Given the description of an element on the screen output the (x, y) to click on. 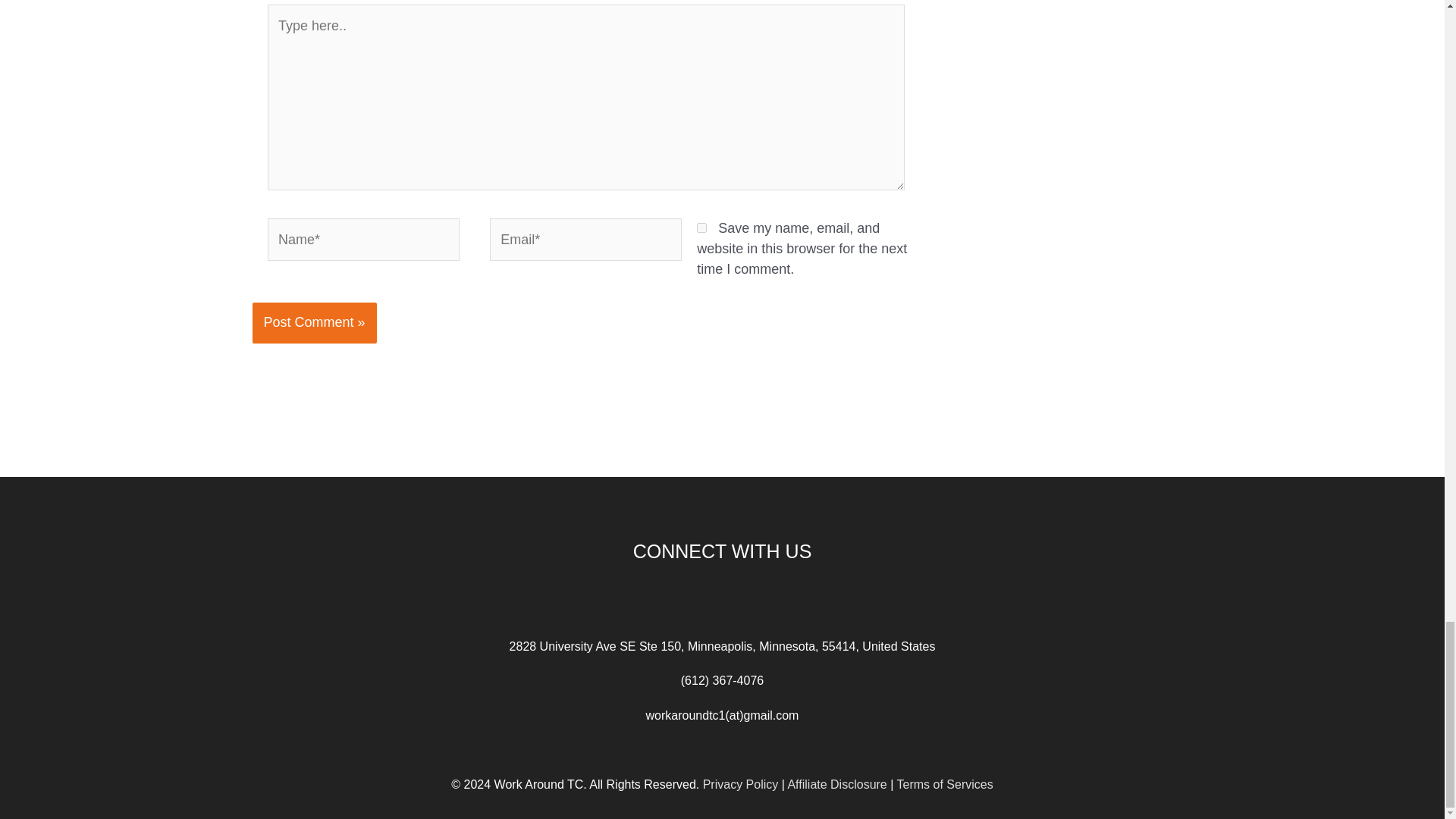
yes (701, 227)
